Given the description of an element on the screen output the (x, y) to click on. 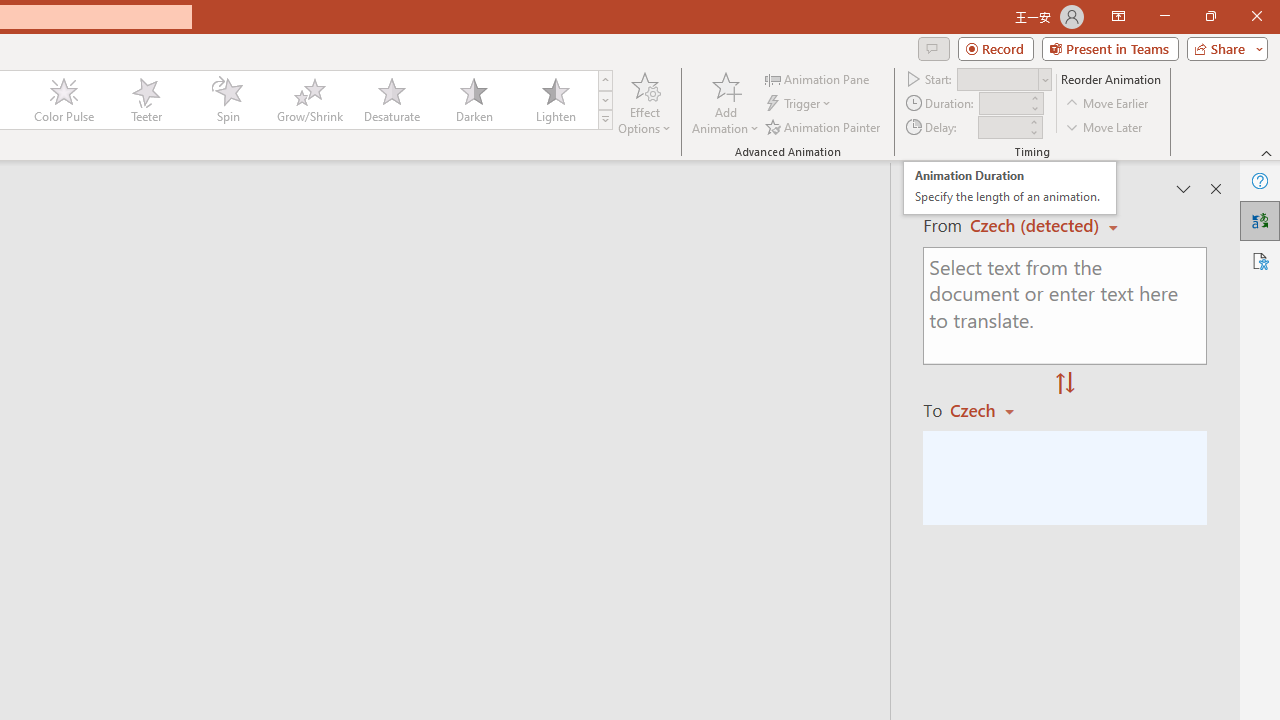
Lighten (555, 100)
Teeter (145, 100)
Animation Duration (1003, 103)
Add Animation (725, 102)
Spin (227, 100)
Czech (991, 409)
Trigger (799, 103)
Desaturate (391, 100)
Darken (473, 100)
